Given the description of an element on the screen output the (x, y) to click on. 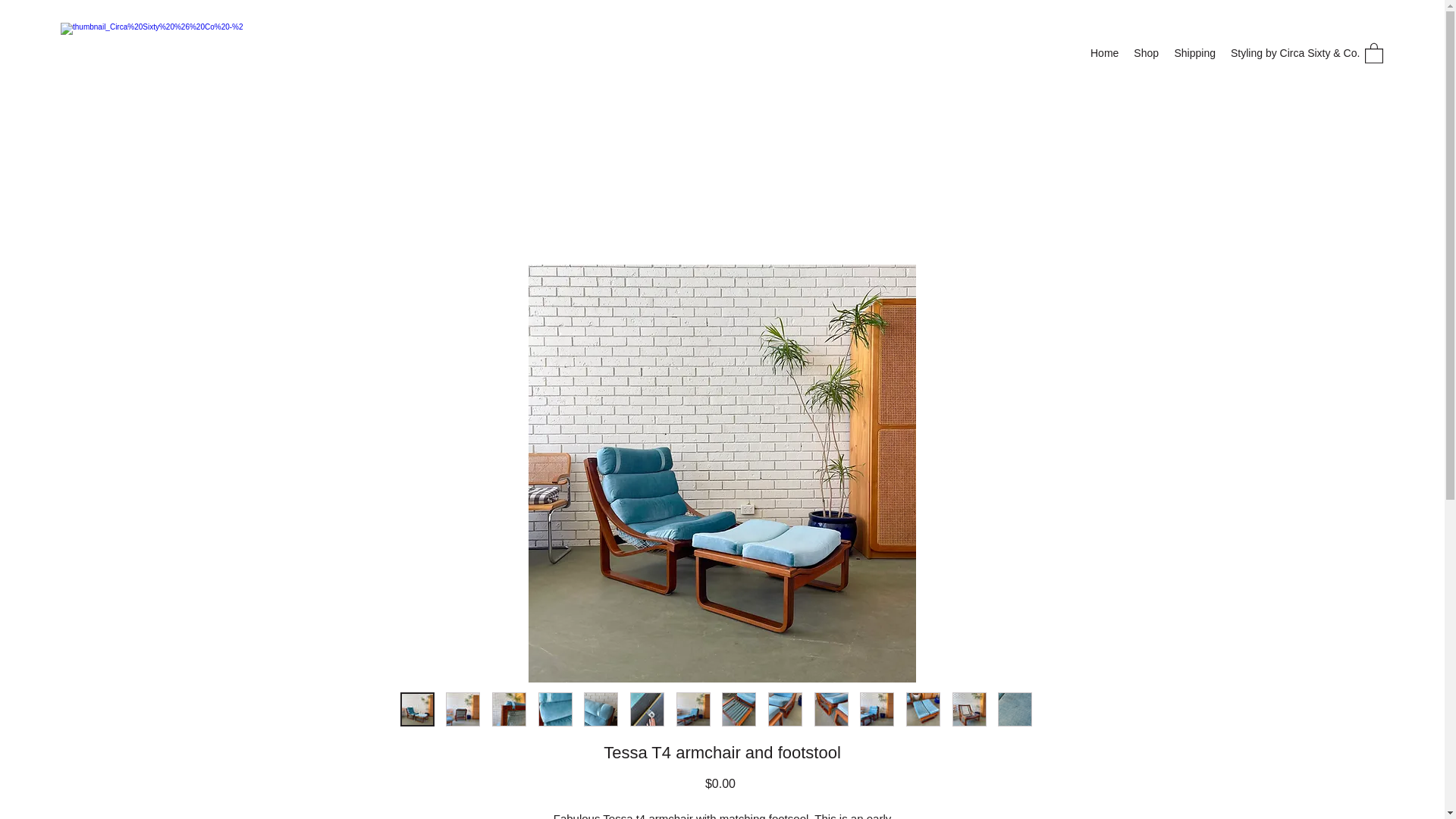
Shipping (1194, 52)
Shop (1145, 52)
Home (1104, 52)
